Given the description of an element on the screen output the (x, y) to click on. 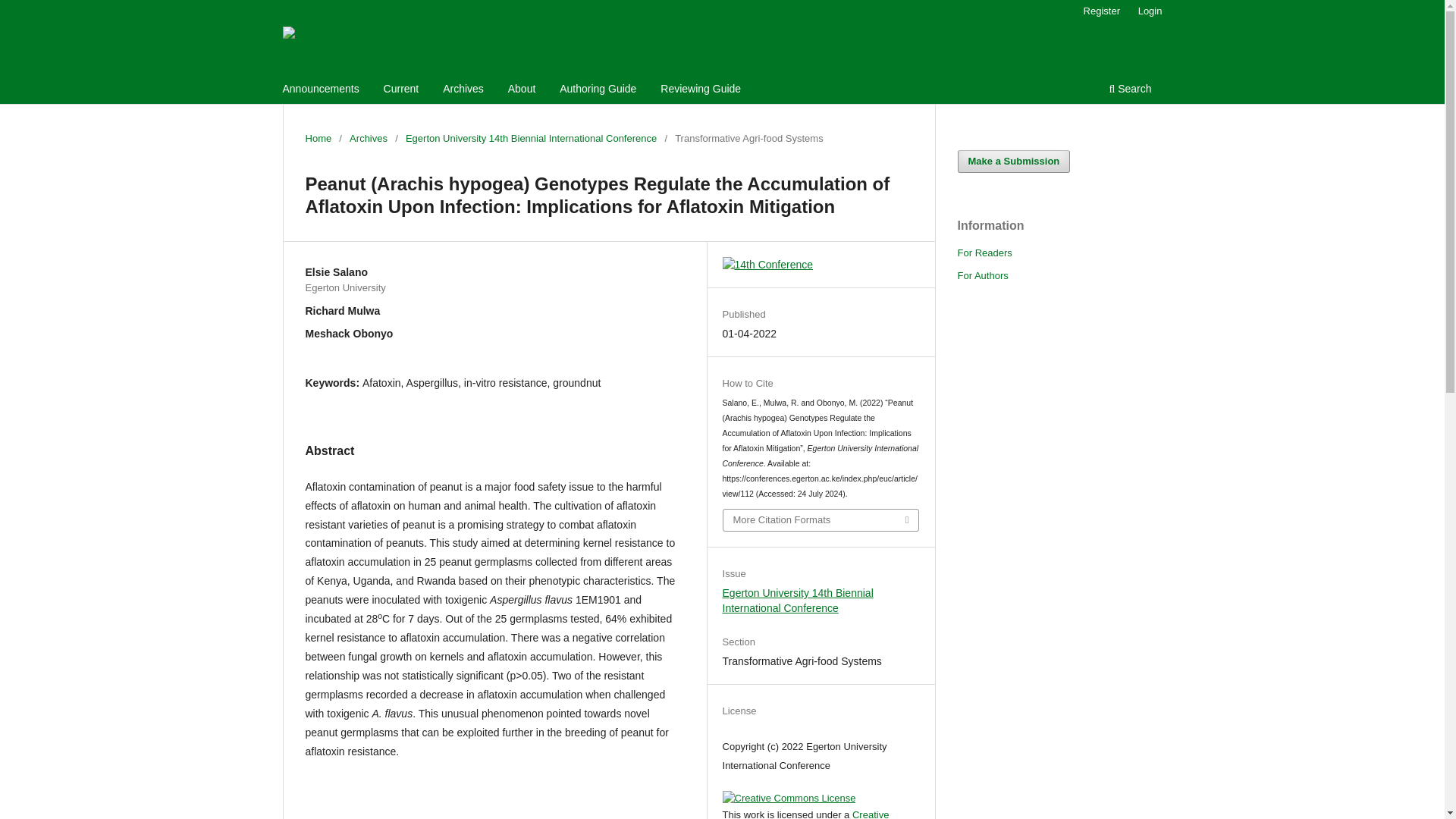
Authoring Guide (598, 90)
More Citation Formats (820, 519)
Egerton University 14th Biennial International Conference (531, 137)
Current (401, 90)
Home (317, 137)
Reviewing Guide (700, 90)
Search (1129, 90)
Announcements (321, 90)
Register (1100, 11)
About (521, 90)
Archives (368, 137)
Login (1150, 11)
Archives (463, 90)
Egerton University 14th Biennial International Conference (797, 600)
